Given the description of an element on the screen output the (x, y) to click on. 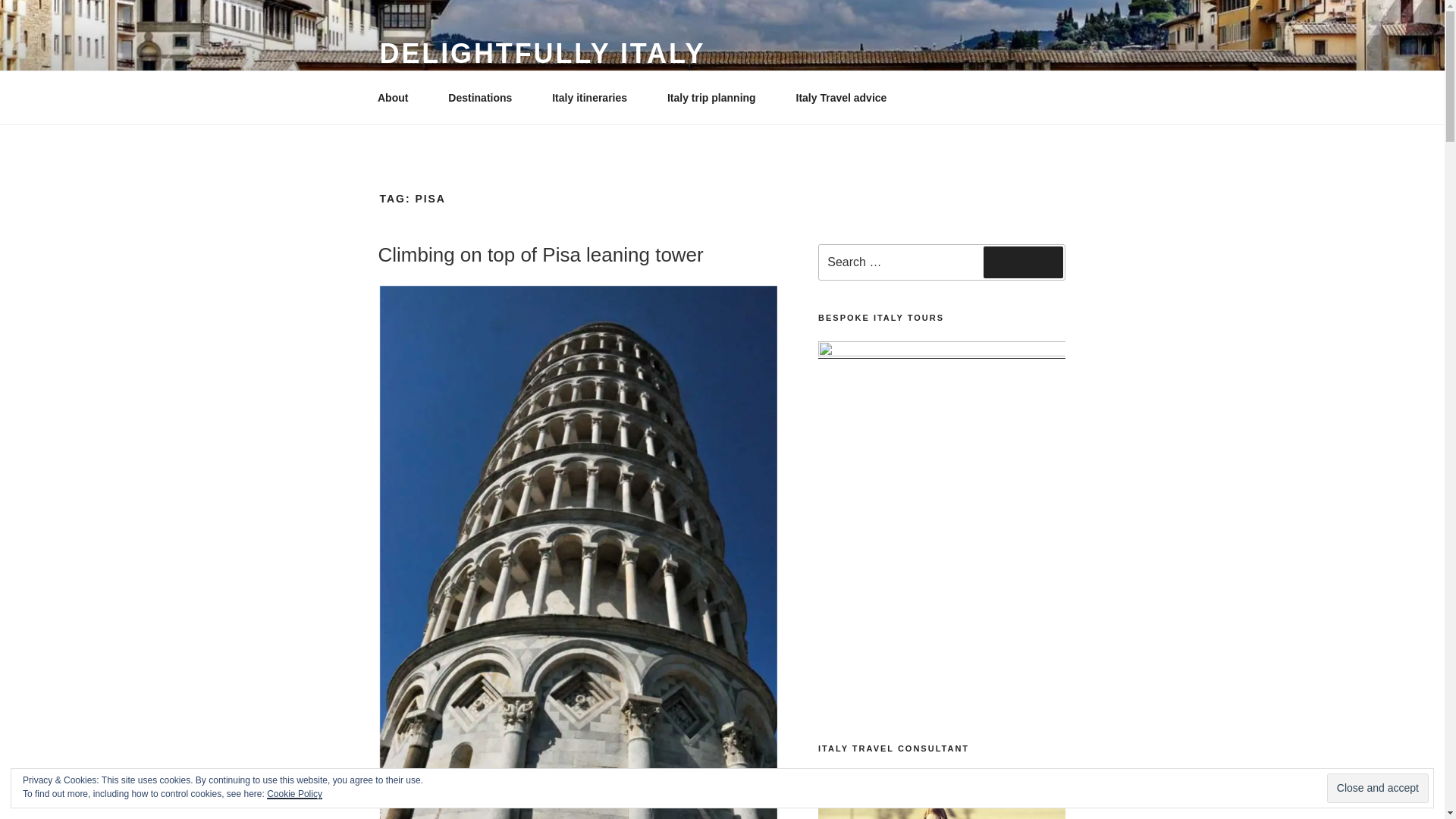
About (397, 97)
Close and accept (1377, 788)
DELIGHTFULLY ITALY (541, 52)
Destinations (485, 97)
Climbing on top of Pisa leaning tower (540, 254)
Italy Travel advice (841, 97)
Italy trip planning (715, 97)
Italy itineraries (594, 97)
